Given the description of an element on the screen output the (x, y) to click on. 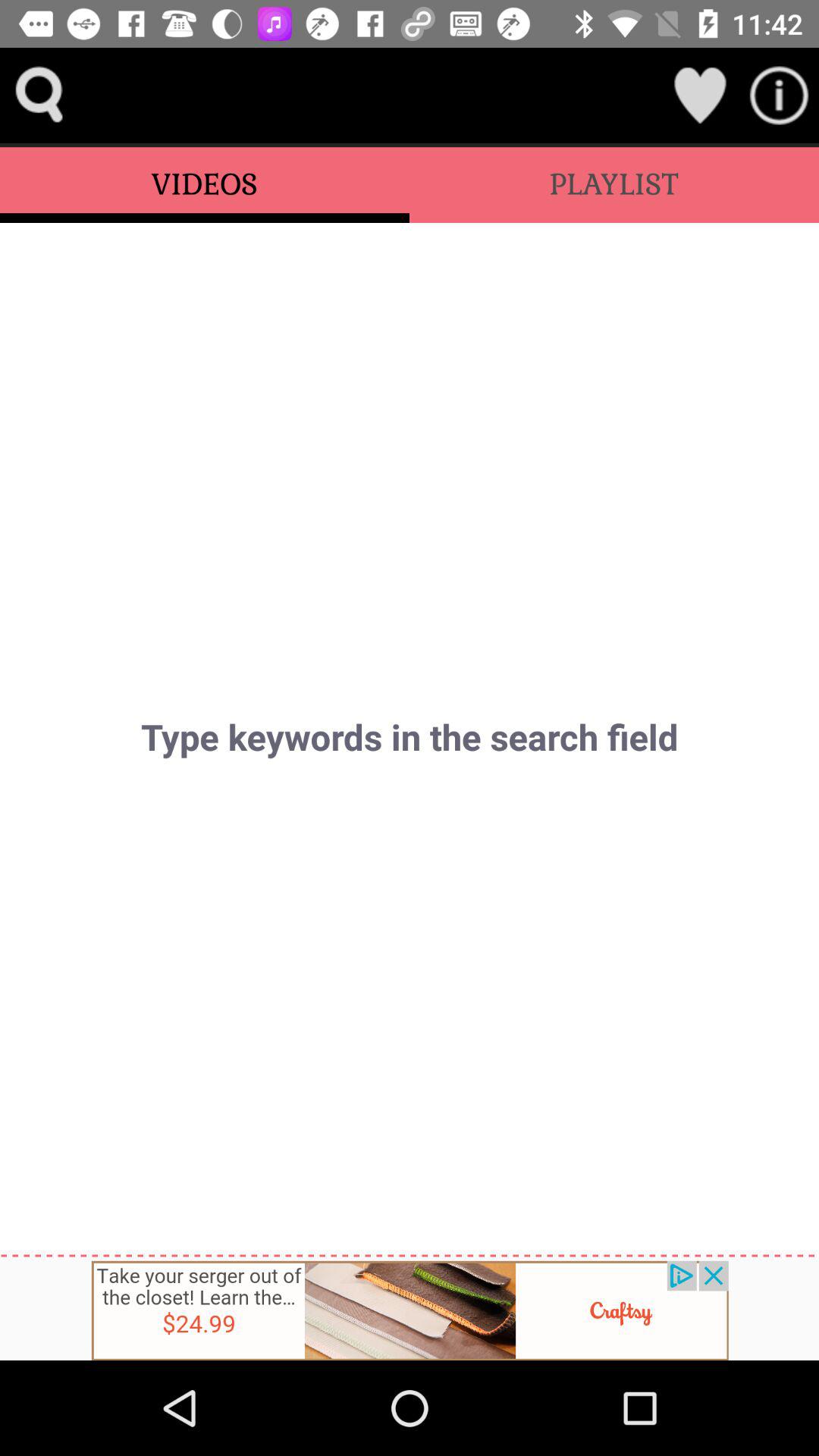
scan (779, 95)
